Given the description of an element on the screen output the (x, y) to click on. 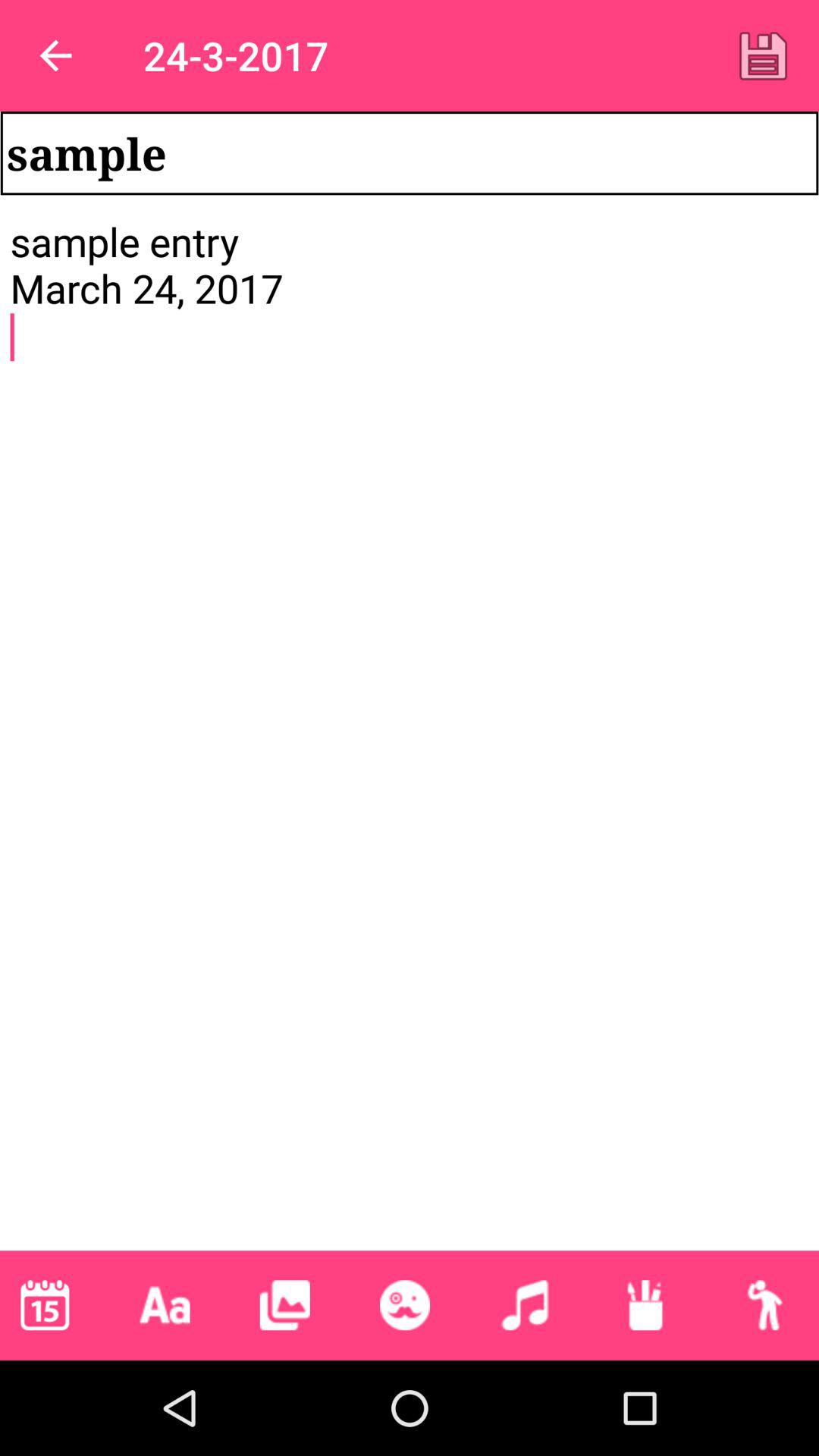
select pen style (644, 1305)
